Given the description of an element on the screen output the (x, y) to click on. 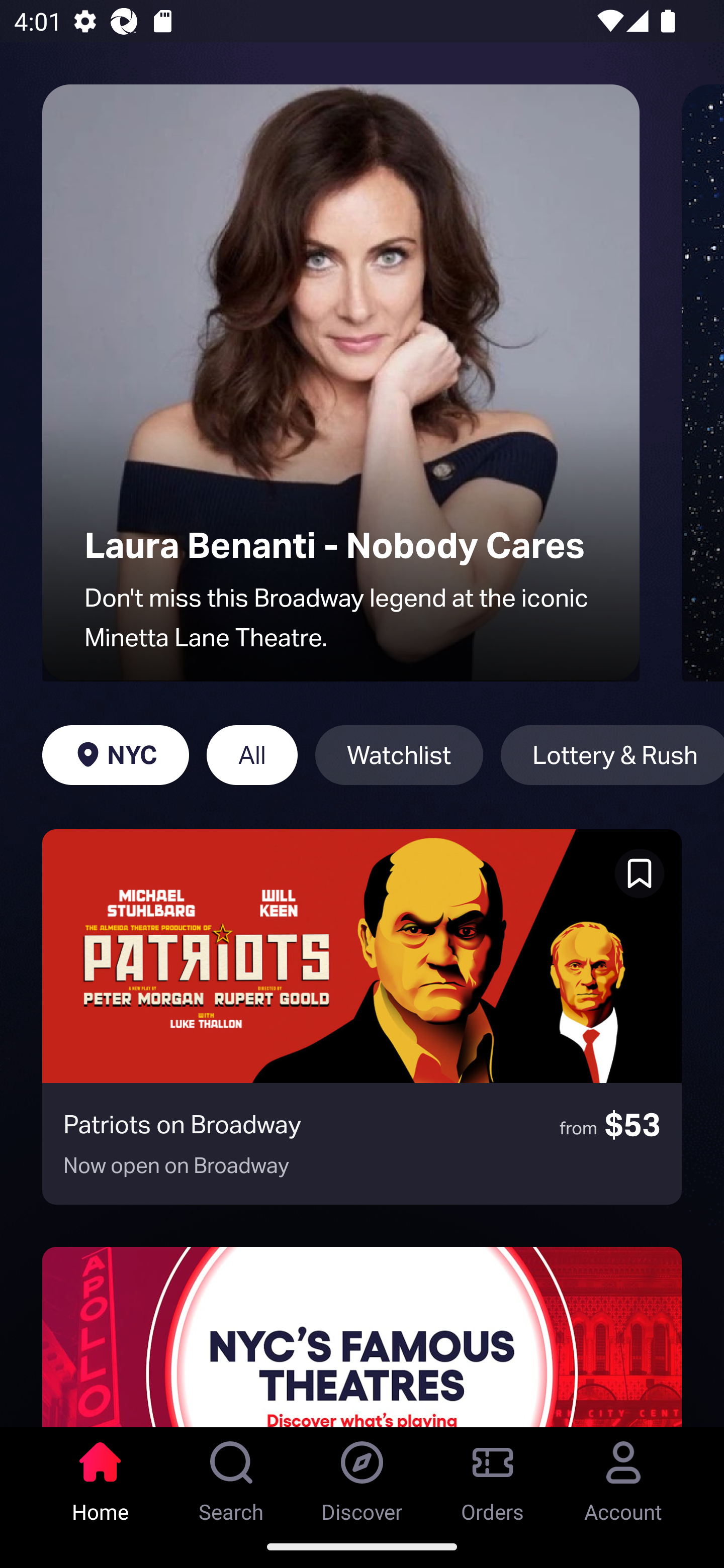
NYC (114, 754)
All (251, 754)
Watchlist (398, 754)
Lottery & Rush (612, 754)
Patriots on Broadway from $53 Now open on Broadway (361, 1016)
Search (230, 1475)
Discover (361, 1475)
Orders (492, 1475)
Account (623, 1475)
